Given the description of an element on the screen output the (x, y) to click on. 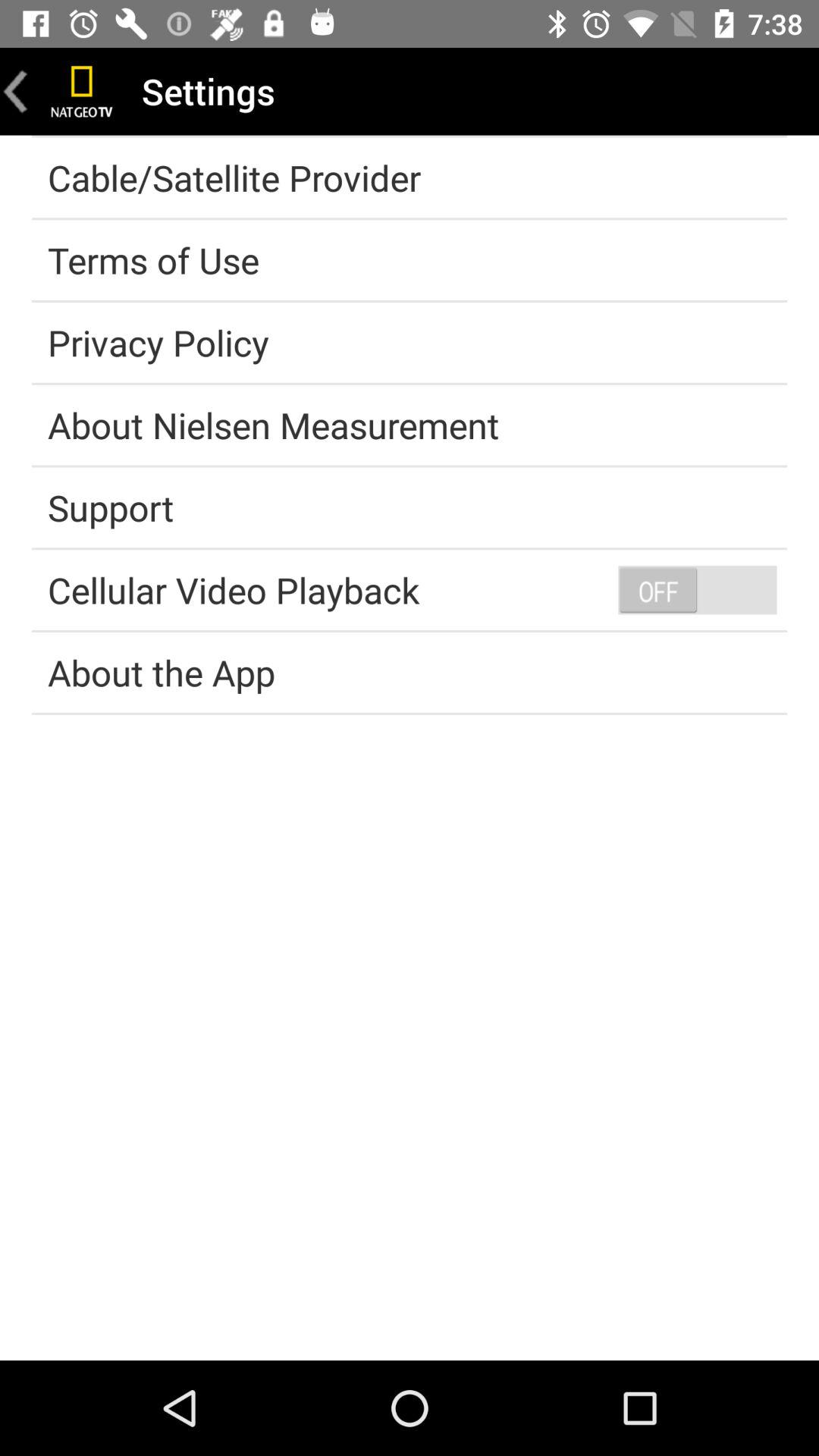
go home (81, 91)
